Given the description of an element on the screen output the (x, y) to click on. 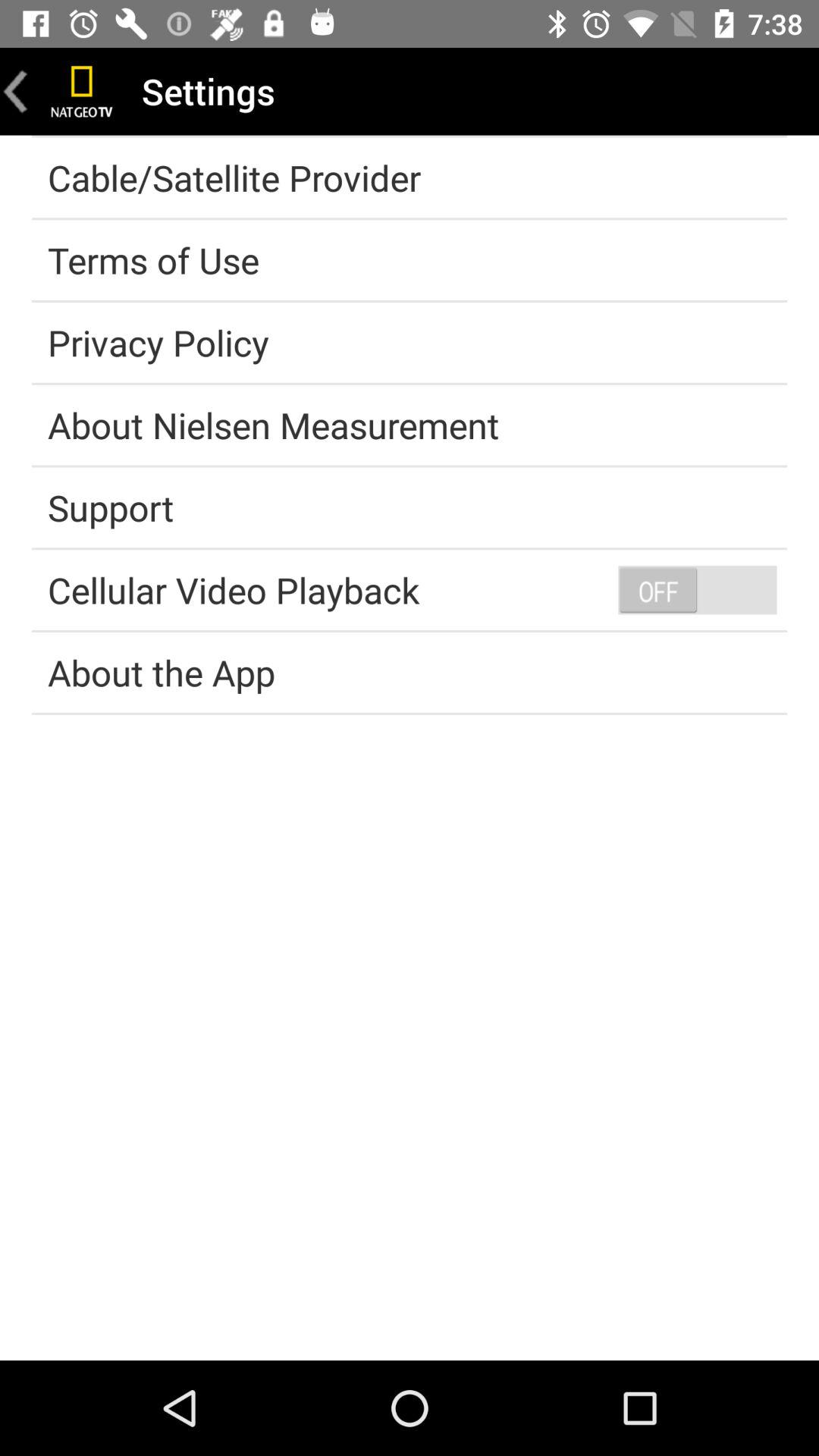
go home (81, 91)
